Given the description of an element on the screen output the (x, y) to click on. 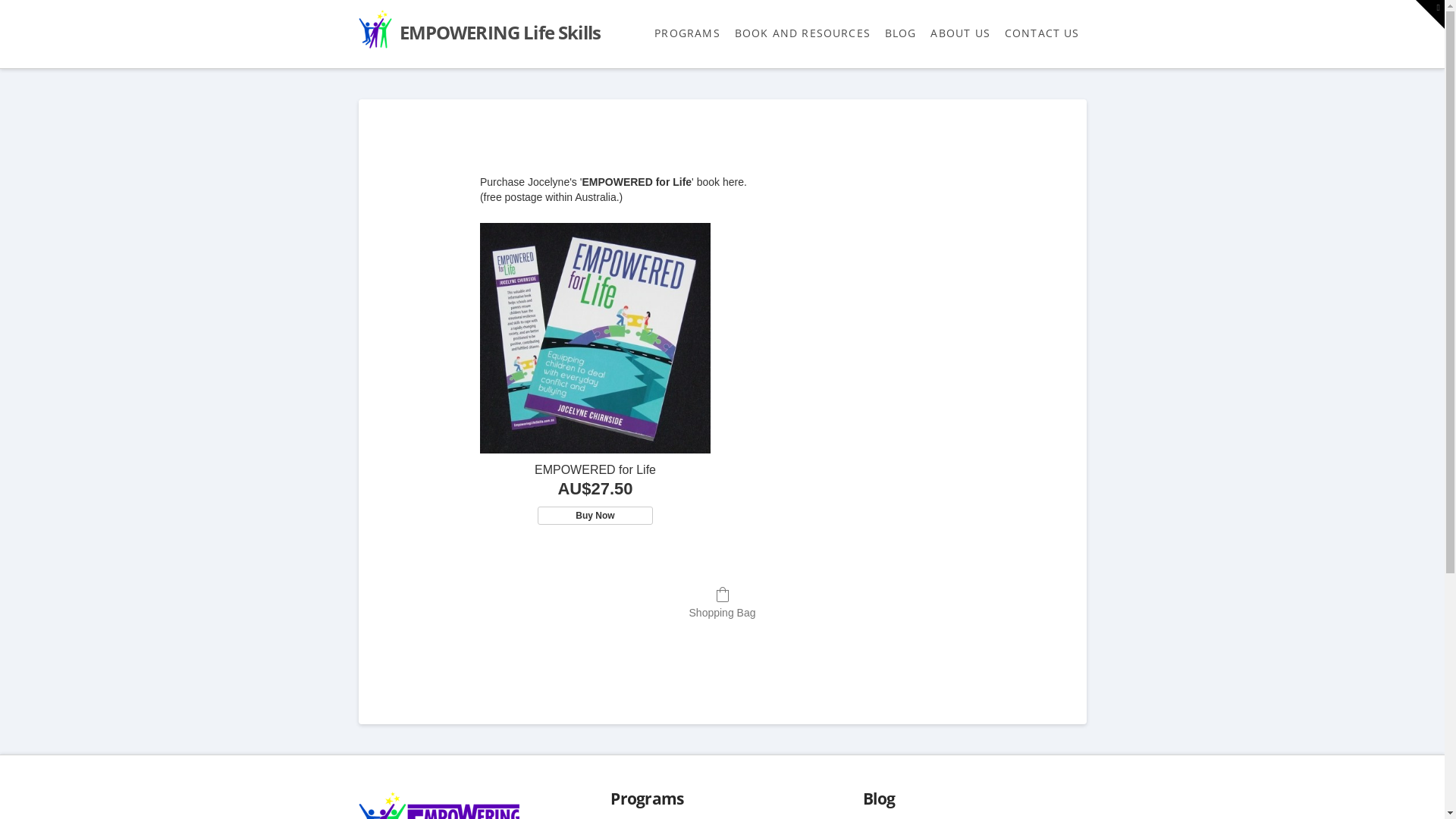
CONTACT US Element type: text (1041, 34)
ABOUT US Element type: text (959, 34)
EMPOWERED for Life Element type: text (594, 470)
Shopping Bag Element type: text (722, 602)
EMPOWERED for Life Element type: hover (594, 337)
Buy Now Element type: text (594, 515)
BOOK AND RESOURCES Element type: text (802, 34)
BLOG Element type: text (900, 34)
Toggle the Widgetbar Element type: text (1429, 14)
PROGRAMS Element type: text (686, 34)
